Given the description of an element on the screen output the (x, y) to click on. 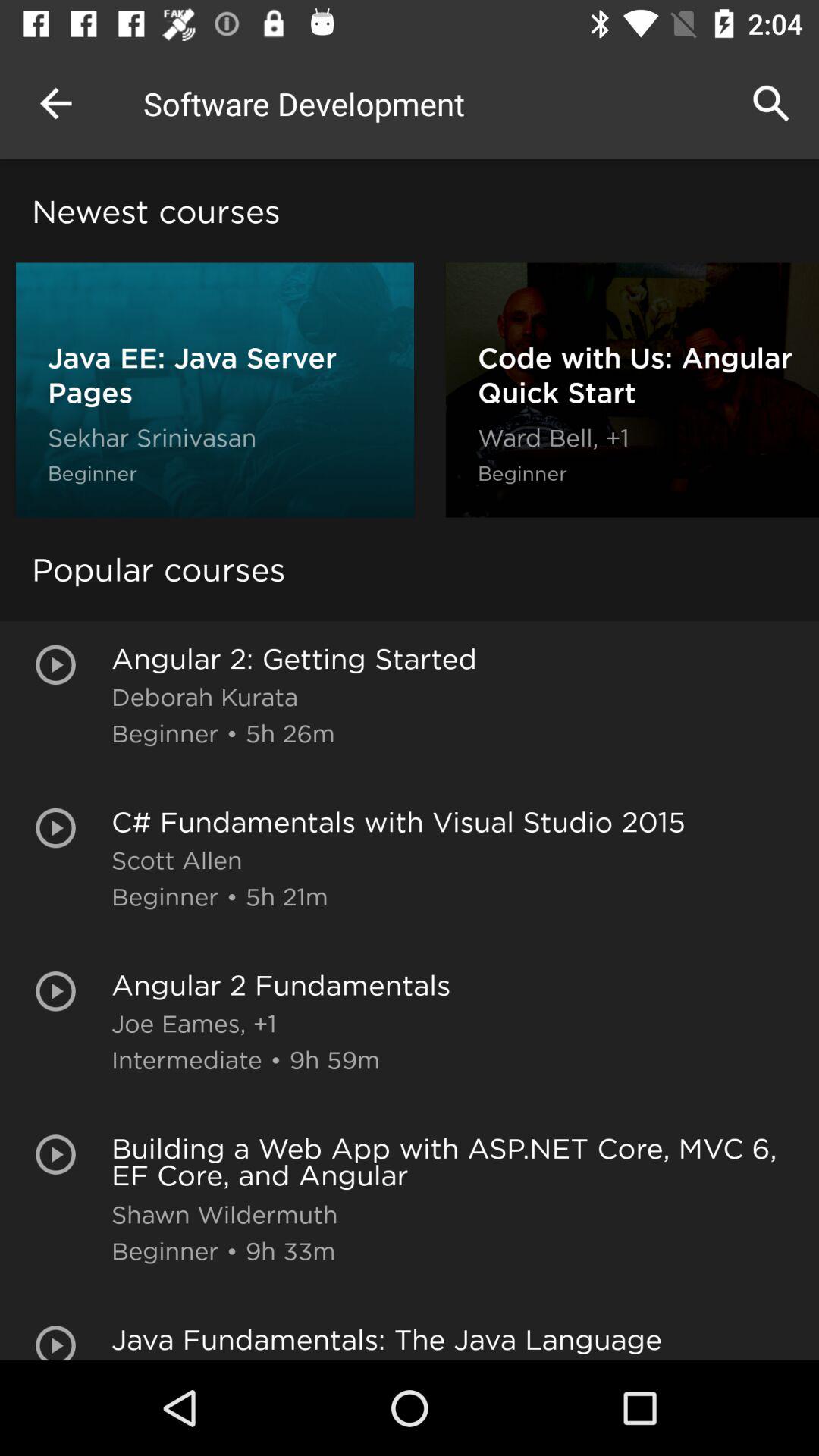
open the item above newest courses icon (55, 103)
